Given the description of an element on the screen output the (x, y) to click on. 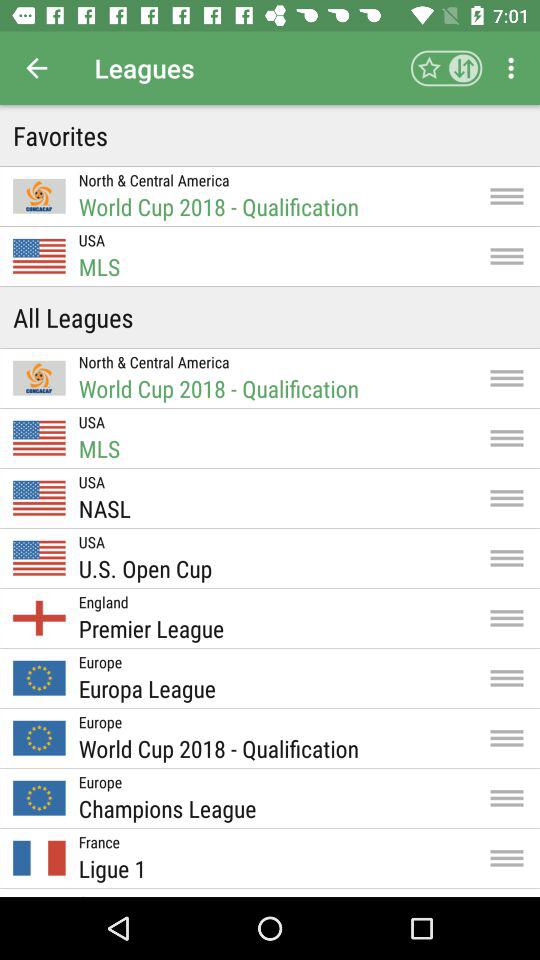
press icon to the right of the leagues (446, 68)
